Given the description of an element on the screen output the (x, y) to click on. 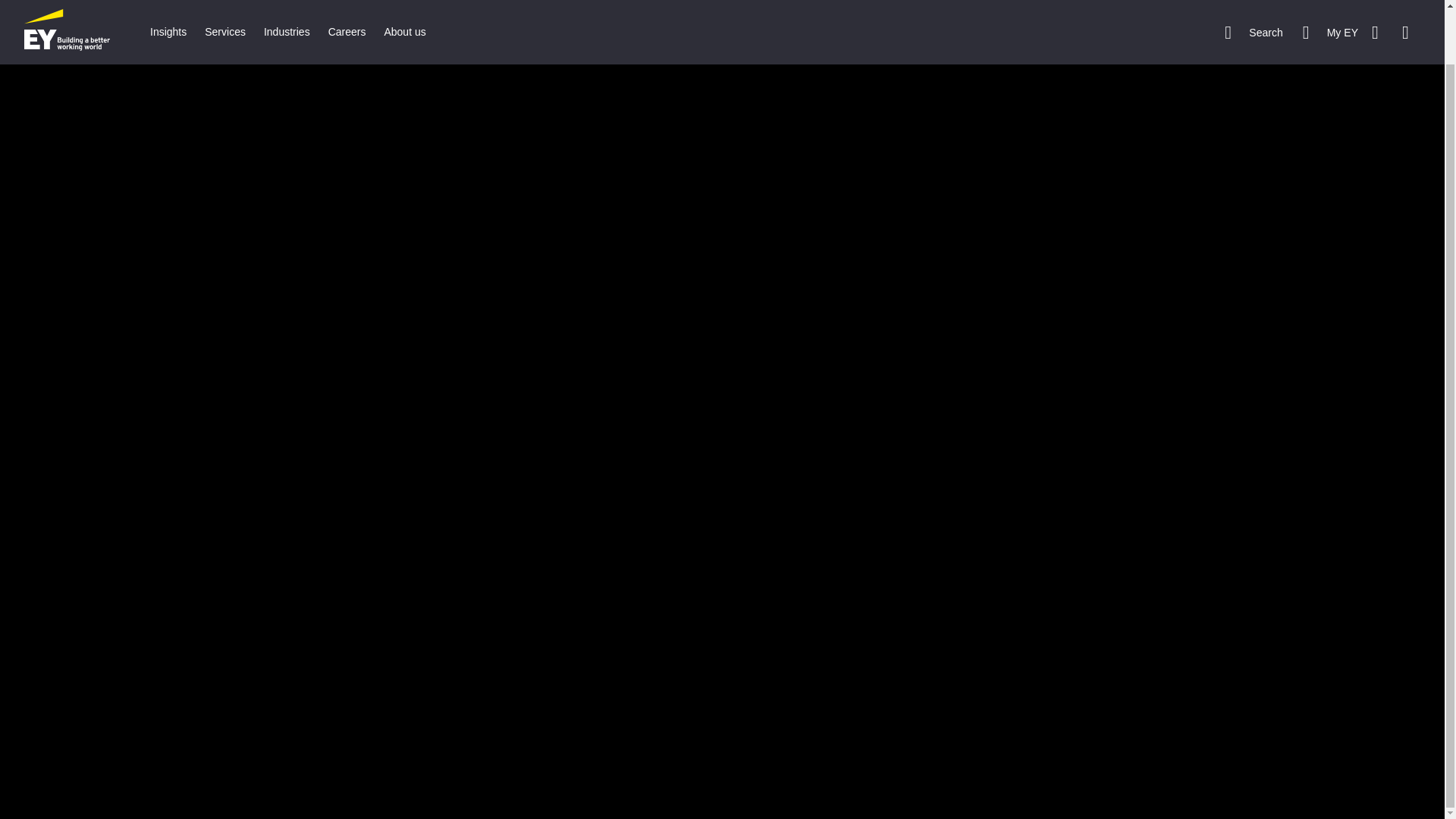
Open search (1253, 2)
Open country language switcher (1394, 2)
My EY (1329, 2)
Insights (168, 2)
Services (224, 2)
